Given the description of an element on the screen output the (x, y) to click on. 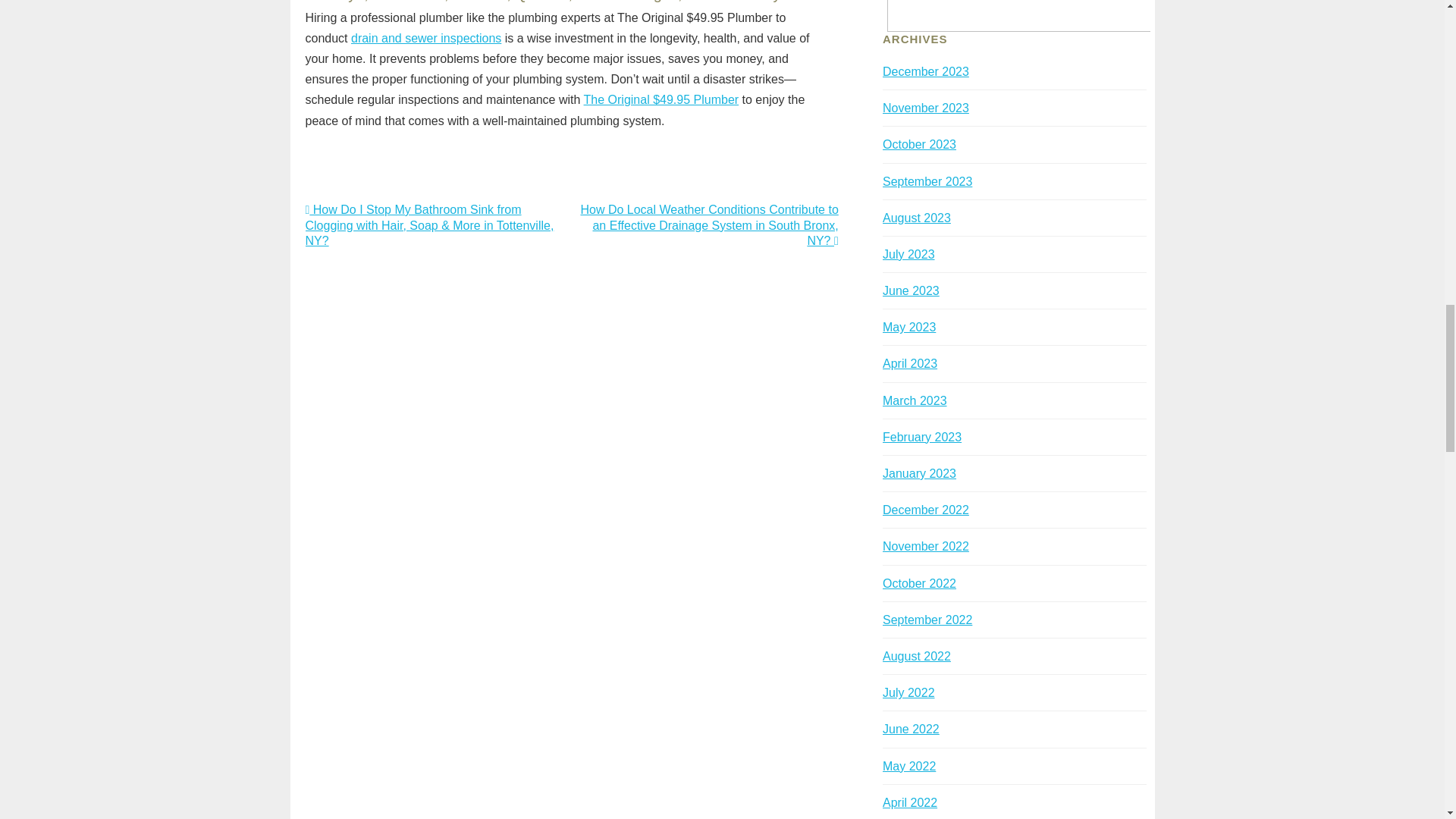
June 2023 (910, 290)
May 2023 (909, 327)
August 2023 (916, 217)
November 2023 (925, 107)
December 2023 (925, 71)
April 2023 (909, 363)
July 2023 (908, 254)
September 2023 (927, 181)
March 2023 (914, 400)
October 2023 (919, 144)
drain and sewer inspections (425, 38)
February 2023 (921, 436)
